Given the description of an element on the screen output the (x, y) to click on. 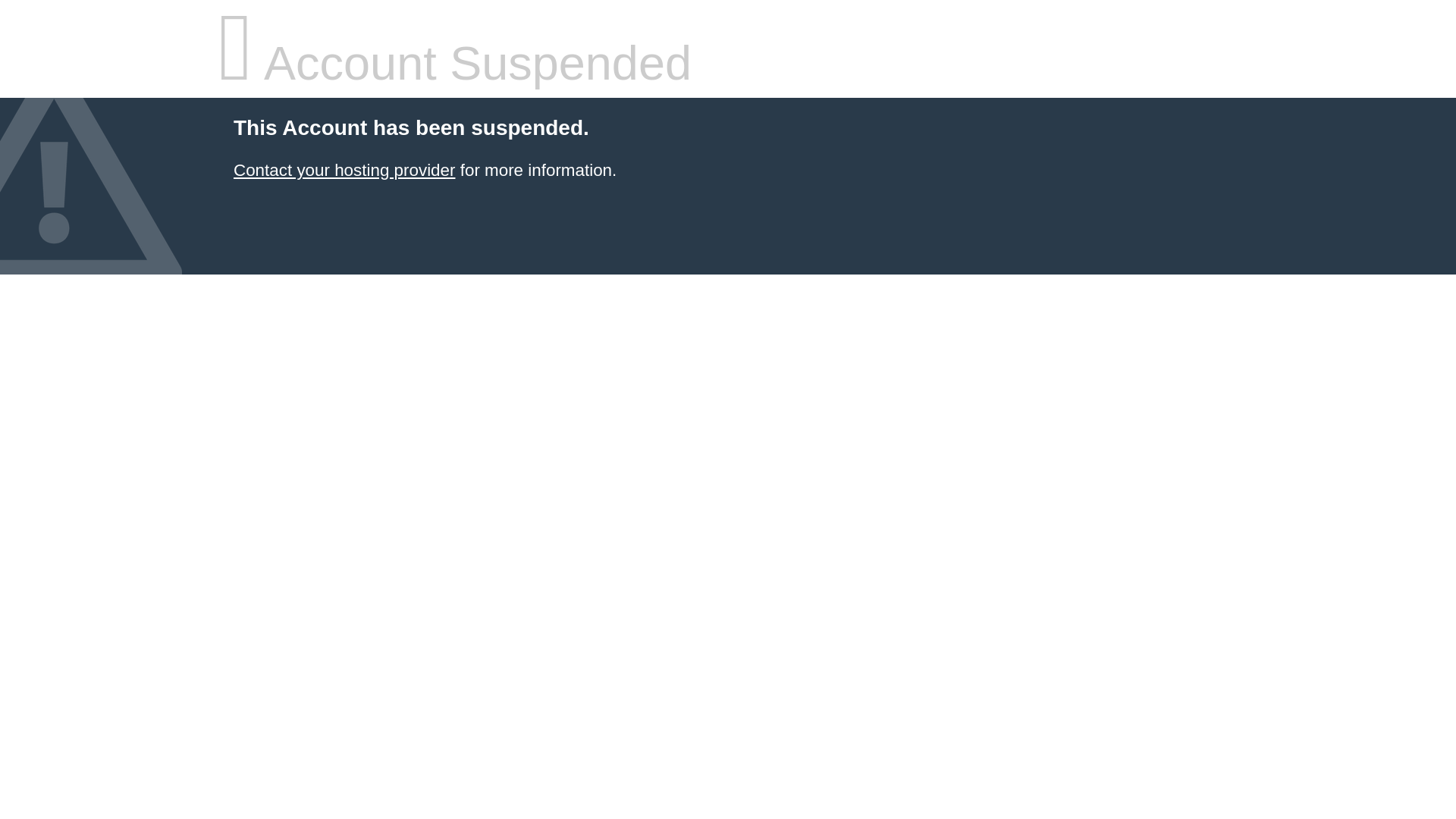
Contact your hosting provider (343, 169)
